Given the description of an element on the screen output the (x, y) to click on. 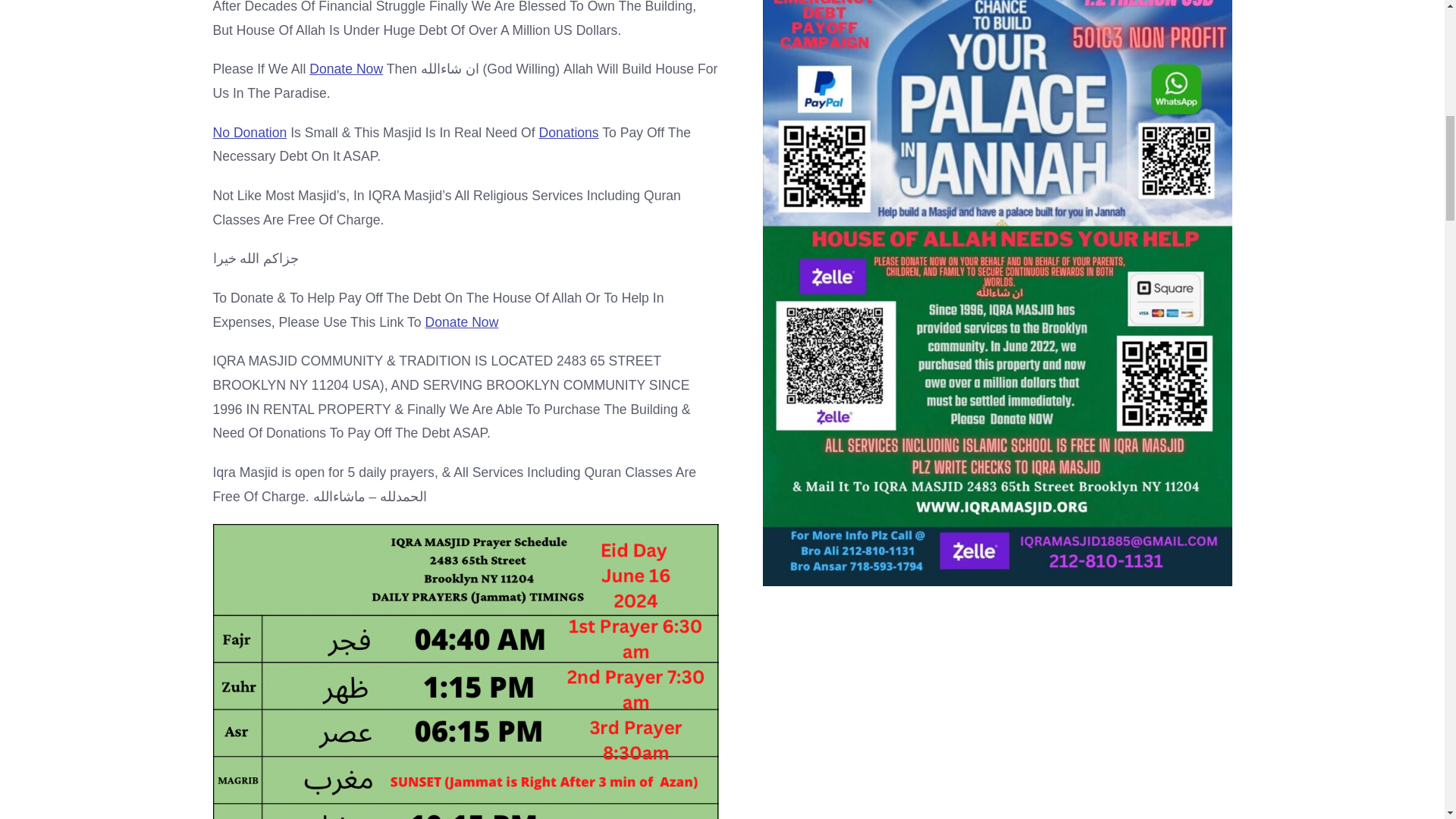
Donate Now (345, 68)
Donations (568, 132)
No Donation (249, 132)
Donate Now (462, 322)
